Given the description of an element on the screen output the (x, y) to click on. 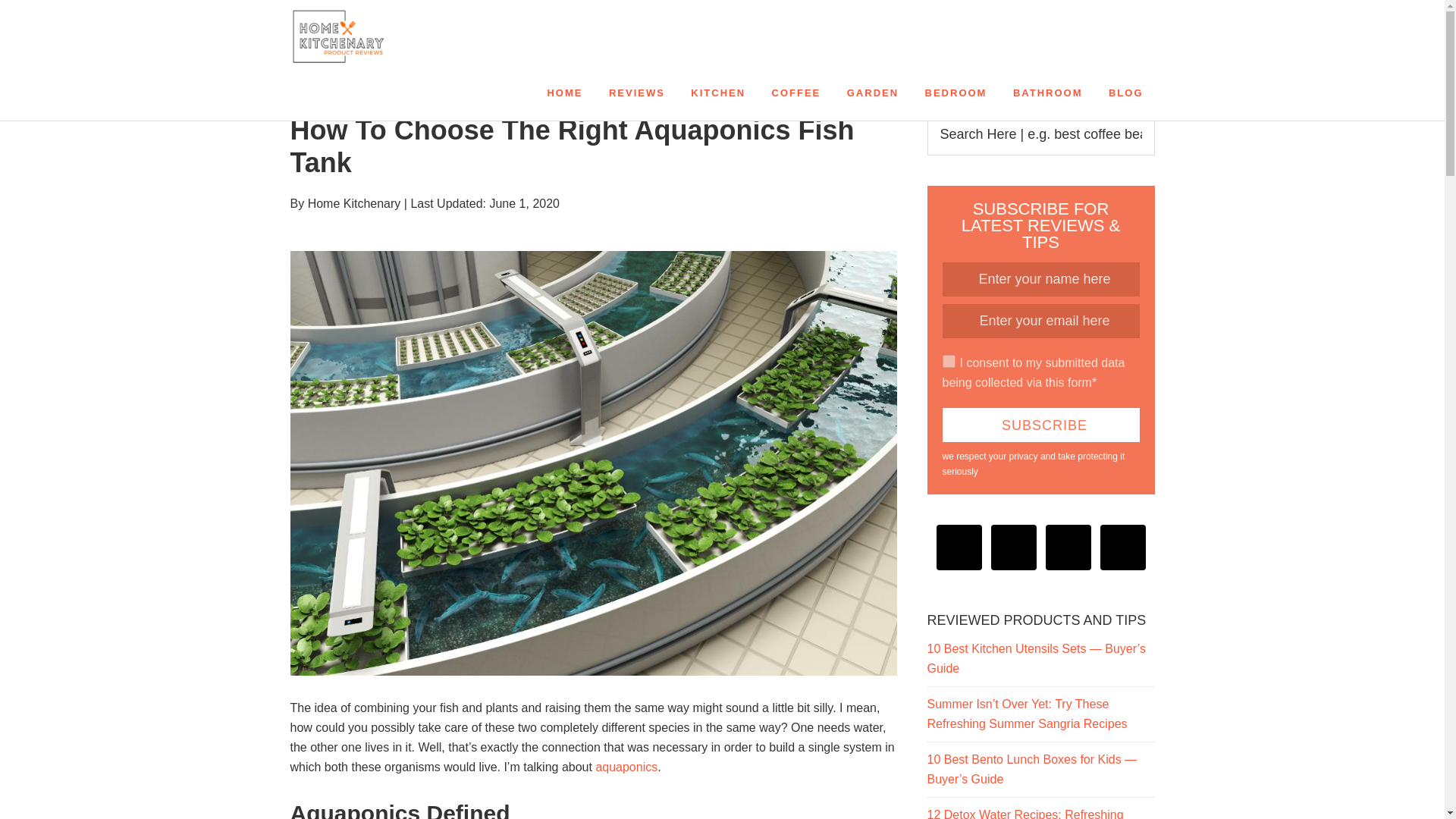
COFFEE (796, 92)
GARDEN (872, 92)
HOME (564, 92)
KITCHEN (718, 92)
Enter your name here (1040, 279)
Home Kitchenary (425, 36)
BEDROOM (956, 92)
BLOG (1125, 92)
BATHROOM (1047, 92)
